Given the description of an element on the screen output the (x, y) to click on. 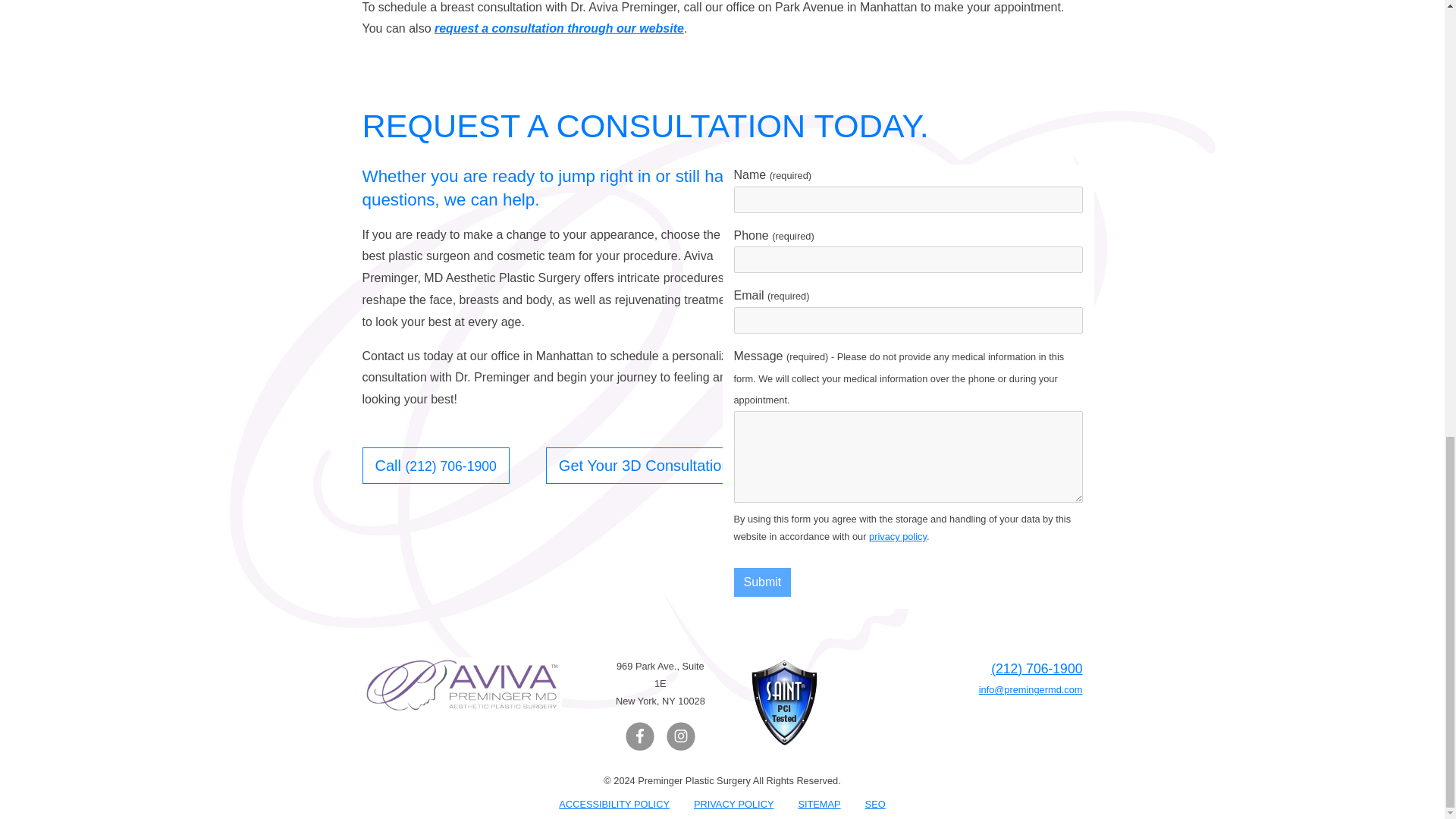
Contact B. Aviva Preminger, MD in New York NY (558, 28)
Submit (762, 582)
